Given the description of an element on the screen output the (x, y) to click on. 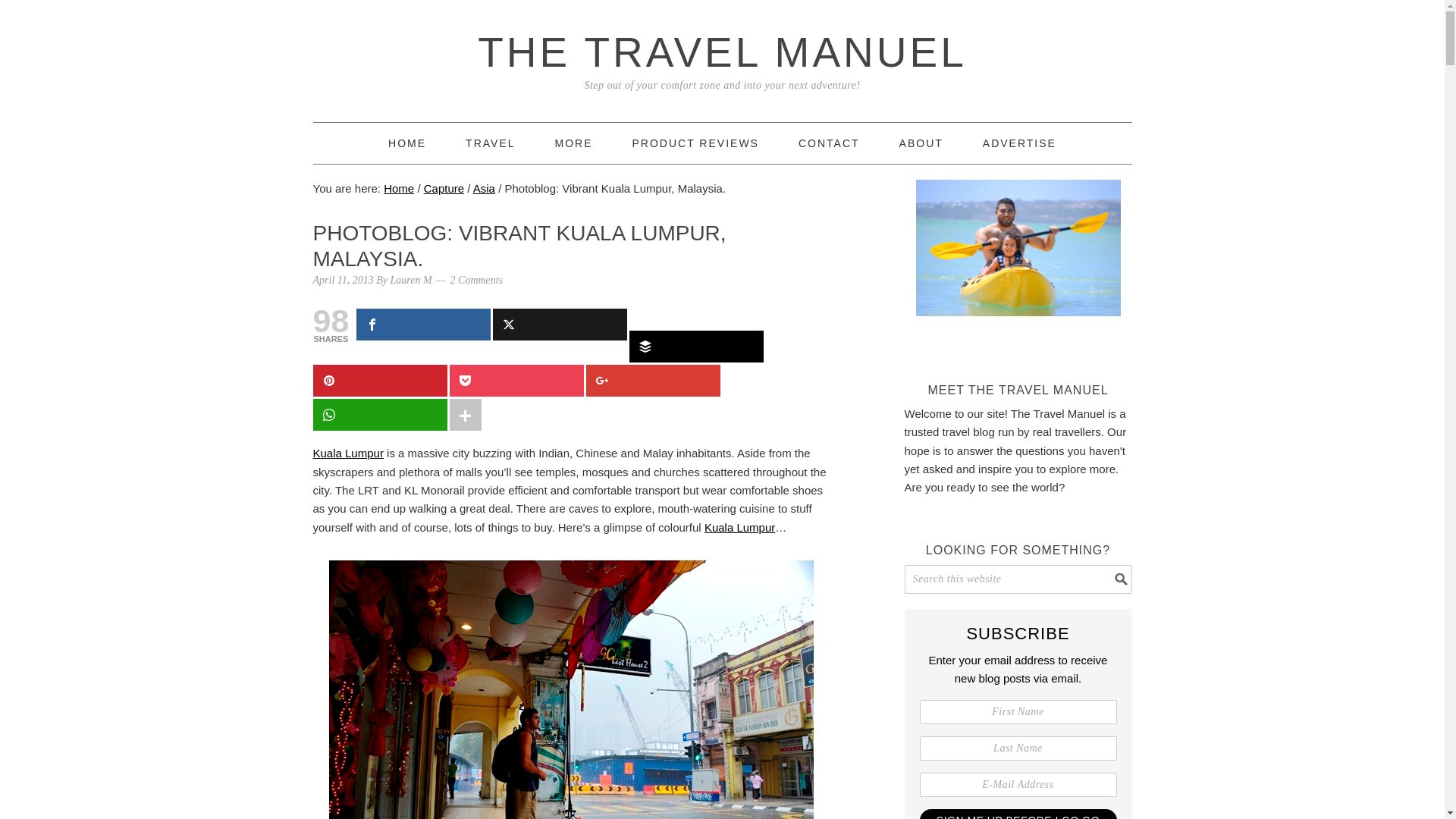
HOME (407, 142)
Home (398, 187)
THE TRAVEL MANUEL (721, 52)
Lauren M (411, 279)
Asia (484, 187)
2 Comments (476, 279)
SIGN ME UP BEFORE I GO GO (1017, 814)
ADVERTISE (1019, 142)
ABOUT (921, 142)
TRAVEL (490, 142)
Twitter (560, 324)
Home (407, 142)
MORE (573, 142)
